Given the description of an element on the screen output the (x, y) to click on. 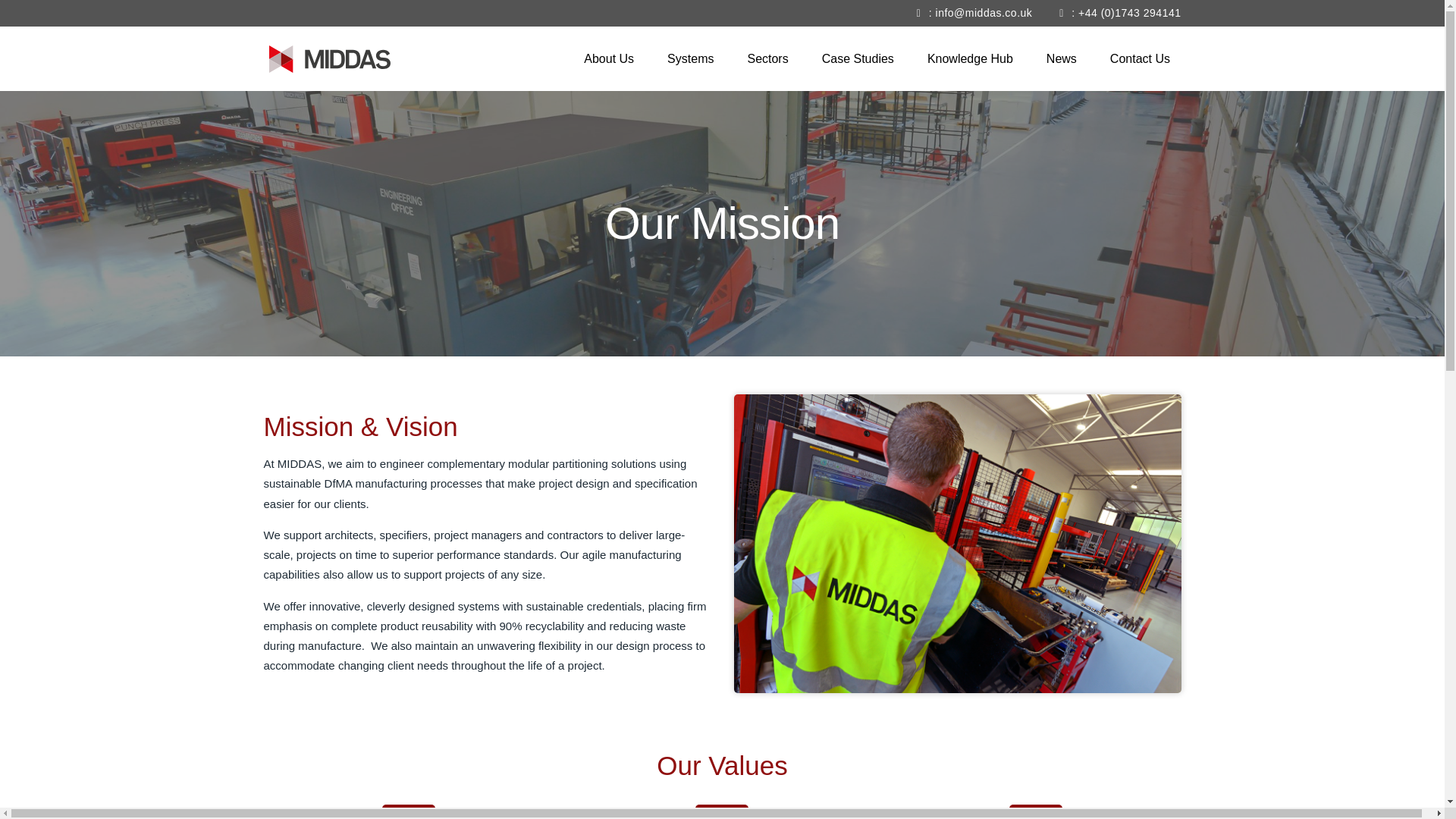
About Us (608, 57)
